Given the description of an element on the screen output the (x, y) to click on. 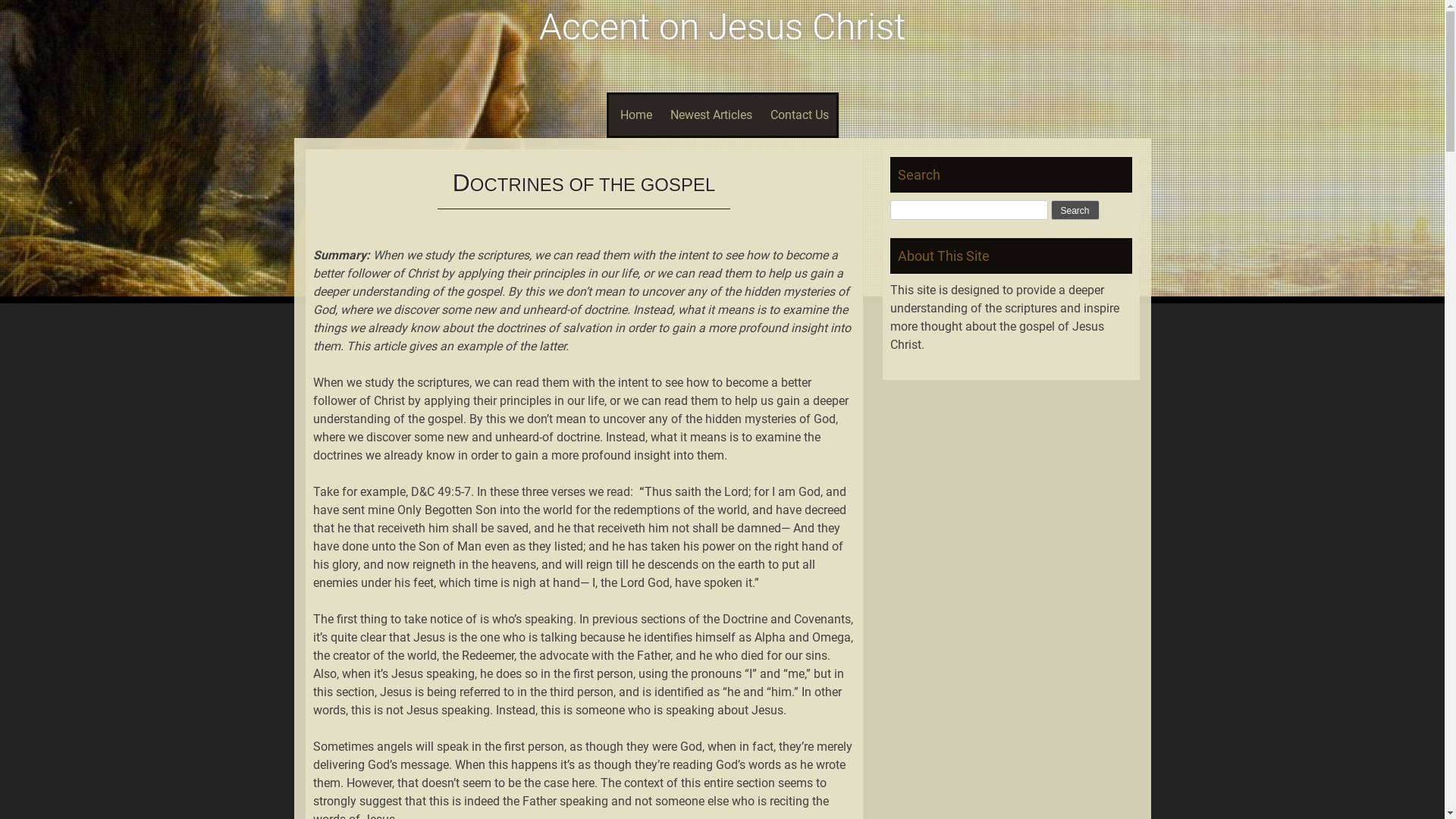
Newest Articles Element type: text (710, 114)
Accent on Jesus Christ Element type: text (722, 26)
Home Element type: text (633, 114)
Contact Us Element type: text (799, 114)
Search Element type: text (1075, 209)
